Given the description of an element on the screen output the (x, y) to click on. 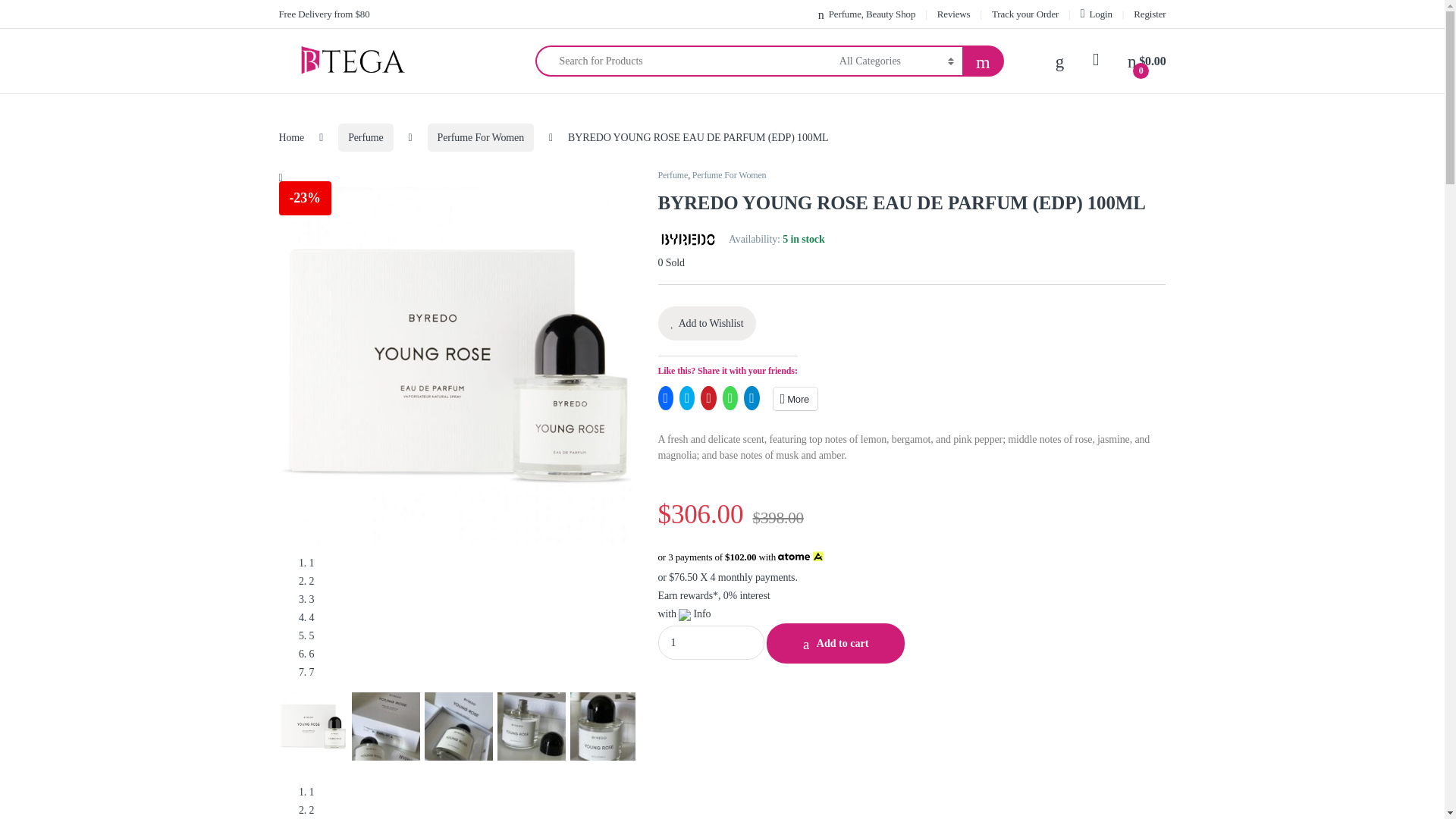
Register (1150, 13)
Reviews (954, 13)
1 (711, 642)
Perfume, Beauty Shop (866, 13)
Reviews (954, 13)
Register (1150, 13)
Perfume, Beauty Shop (866, 13)
Categories (470, 60)
Login (1096, 13)
Track your Order (1024, 13)
Track your Order (1024, 13)
Login (1096, 13)
